Given the description of an element on the screen output the (x, y) to click on. 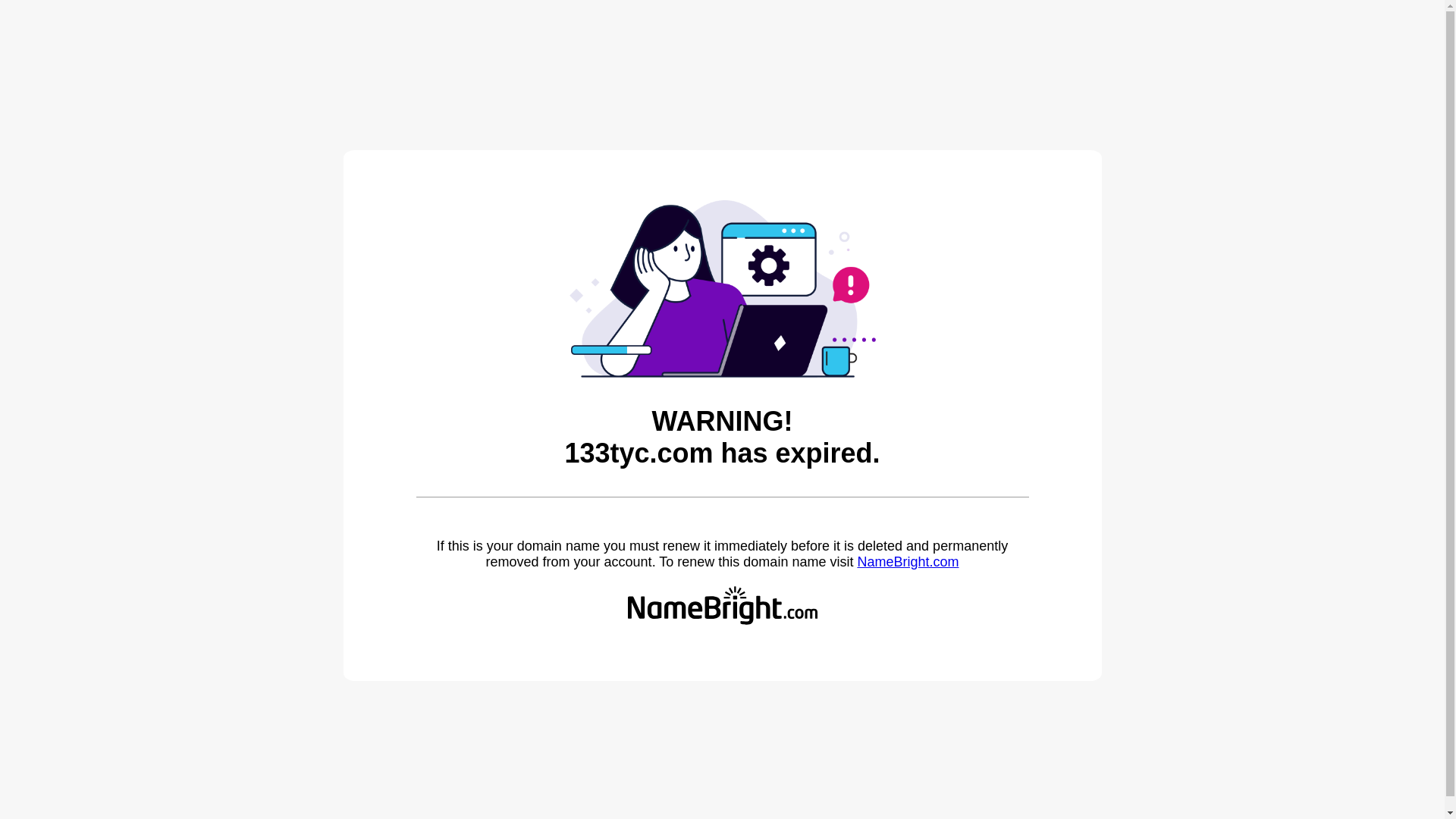
NameBright.com Element type: text (907, 561)
